Given the description of an element on the screen output the (x, y) to click on. 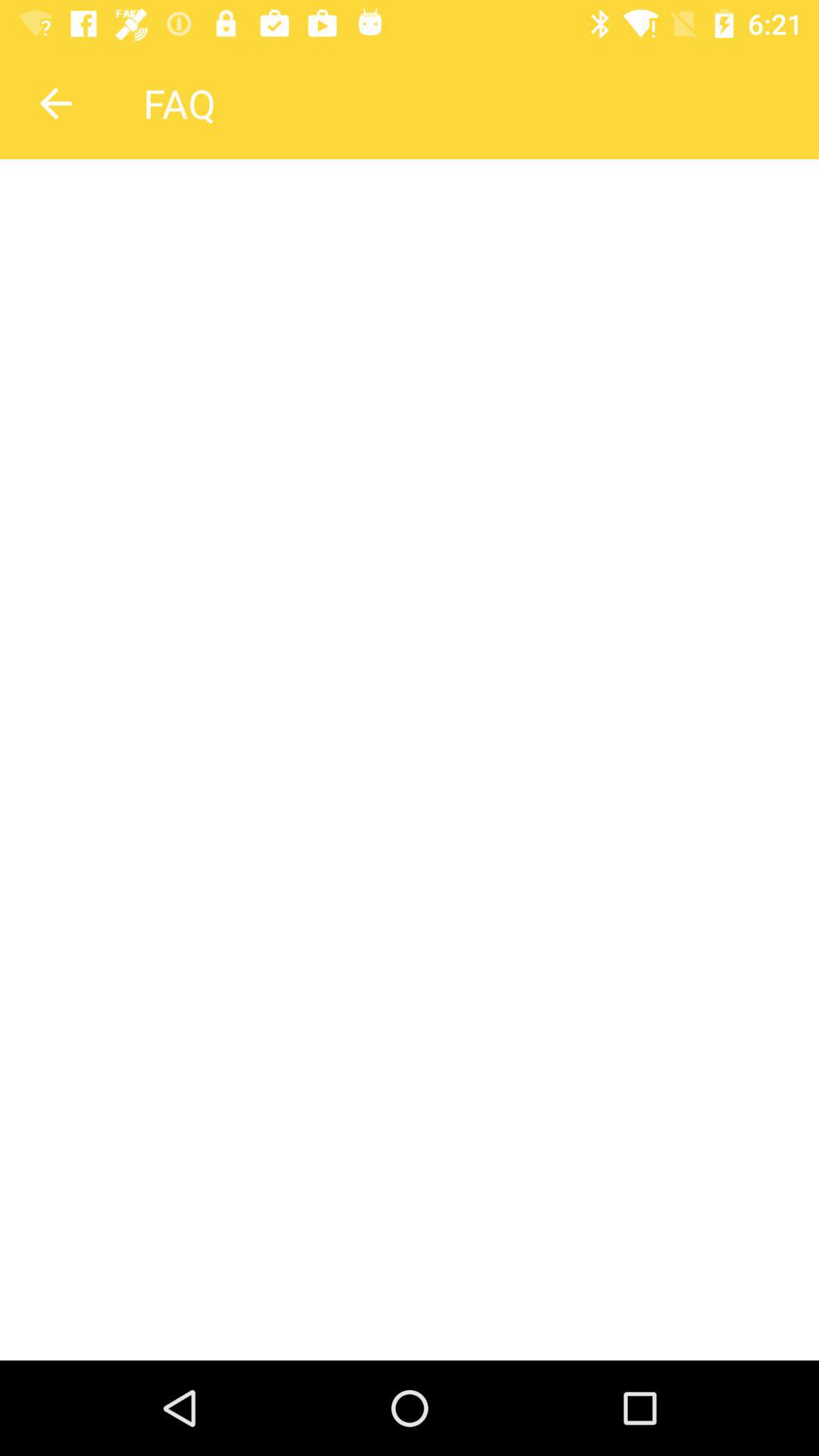
go back (55, 103)
